Given the description of an element on the screen output the (x, y) to click on. 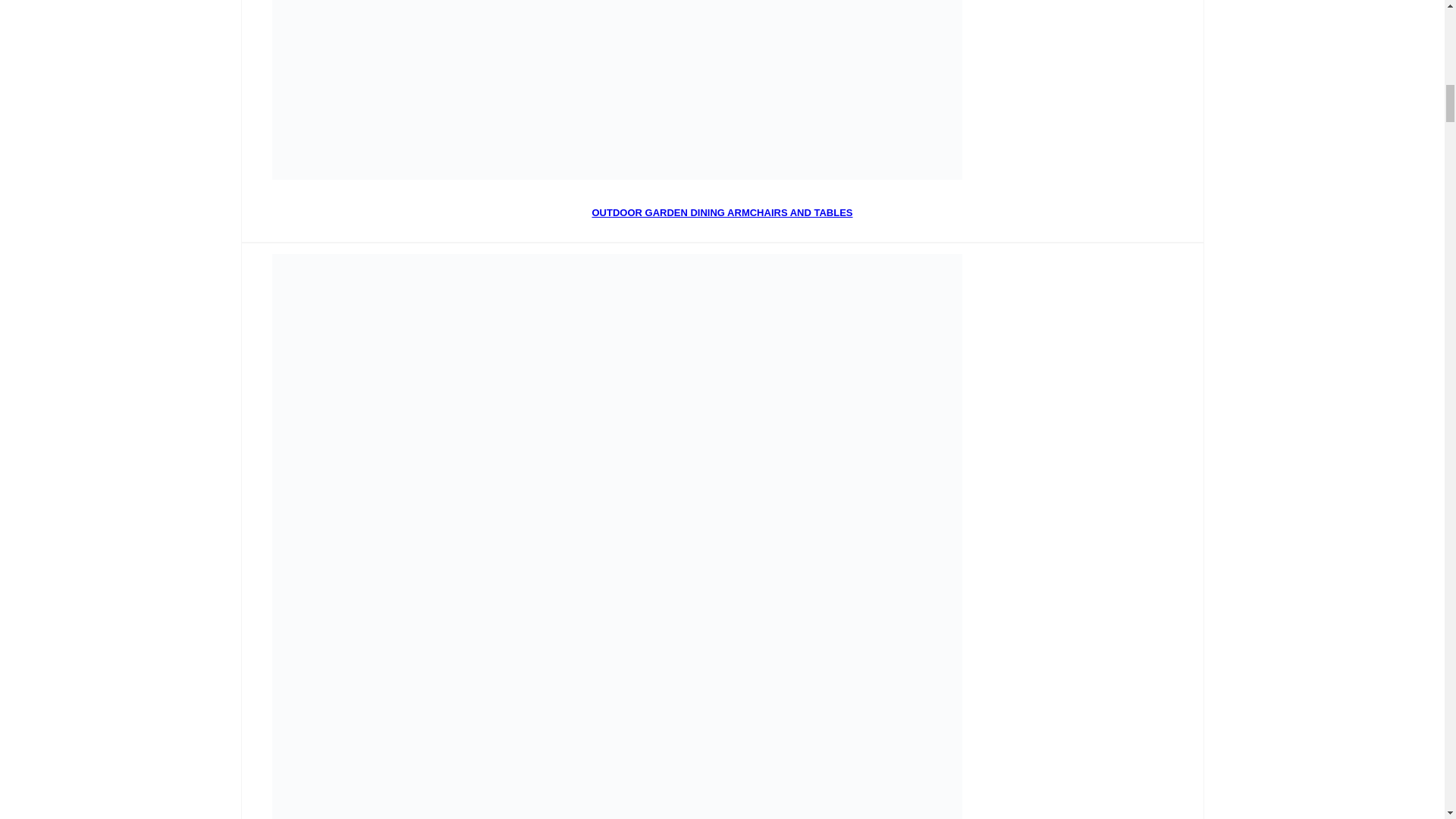
OUTDOOR GARDEN DINING ARMCHAIRS AND TABLES (721, 212)
